Given the description of an element on the screen output the (x, y) to click on. 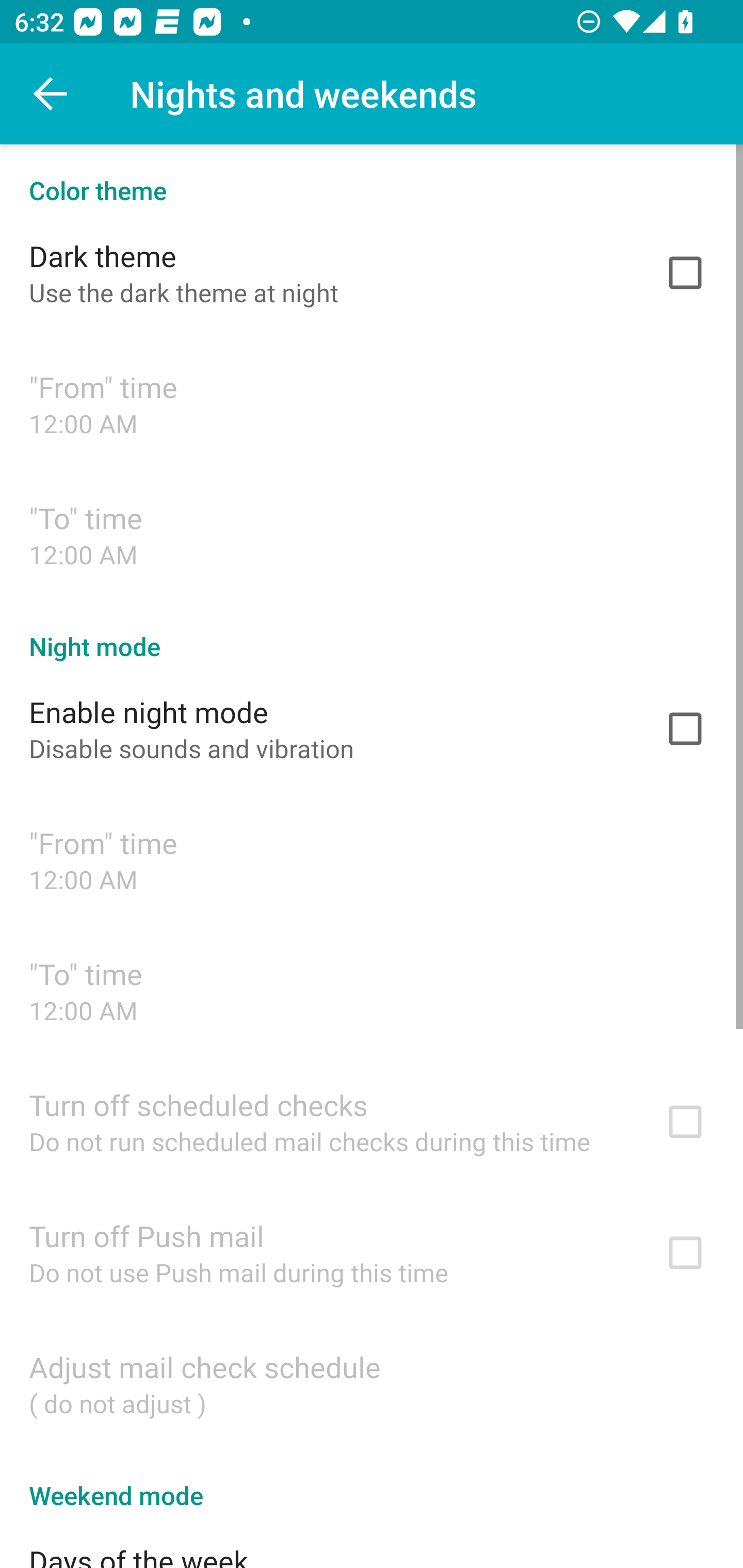
Navigate up (50, 93)
Dark theme Use the dark theme at night (371, 272)
"From" time 12:00 AM (371, 403)
"To" time 12:00 AM (371, 534)
Enable night mode Disable sounds and vibration (371, 728)
"From" time 12:00 AM (371, 859)
"To" time 12:00 AM (371, 990)
Adjust mail check schedule ( do not adjust ) (371, 1383)
